Given the description of an element on the screen output the (x, y) to click on. 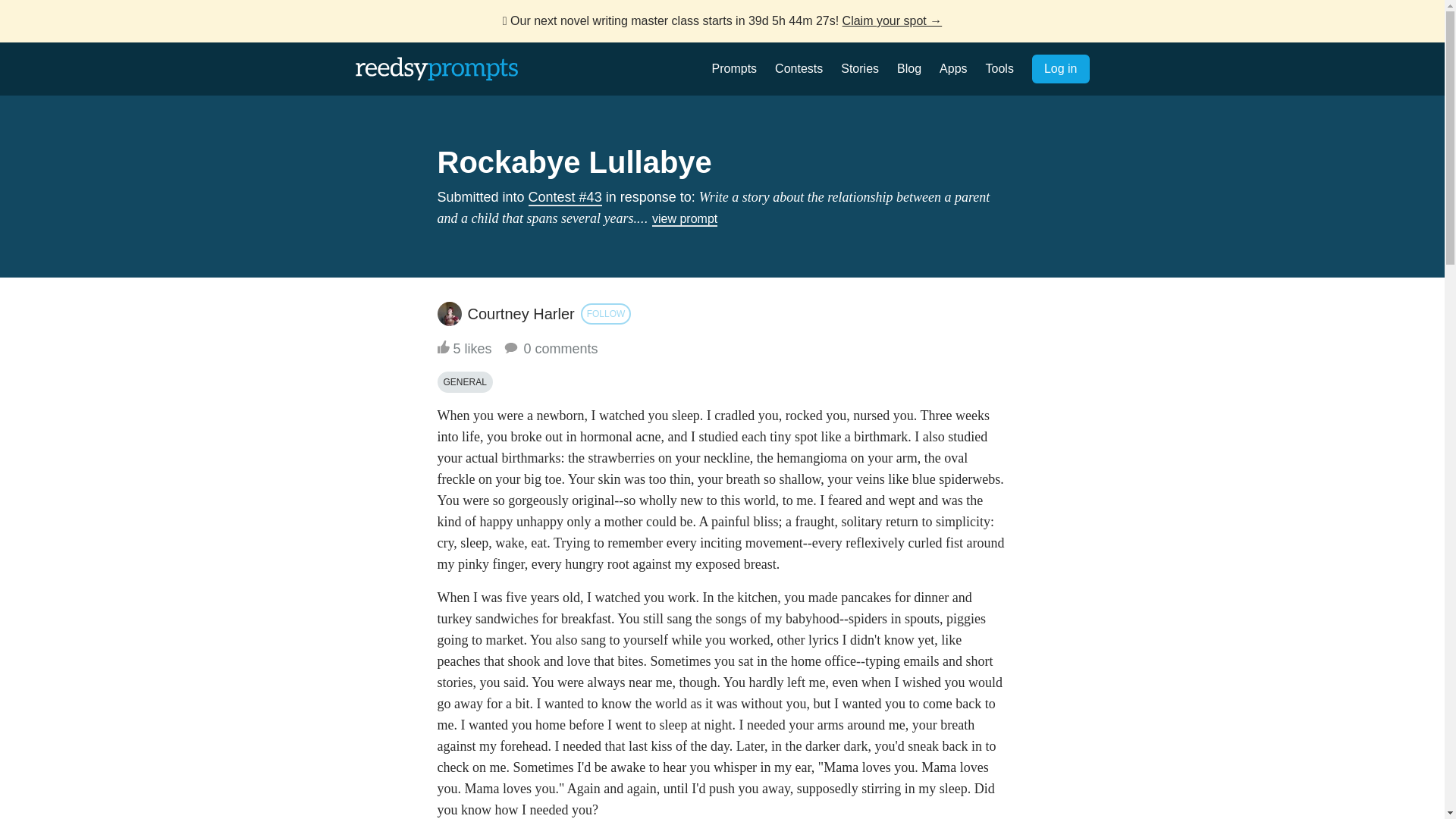
Blog (908, 68)
Log in (1060, 68)
Apps (952, 68)
Tools (999, 68)
Prompts (734, 68)
Contests (798, 68)
0 comments (550, 348)
Stories (860, 68)
